Given the description of an element on the screen output the (x, y) to click on. 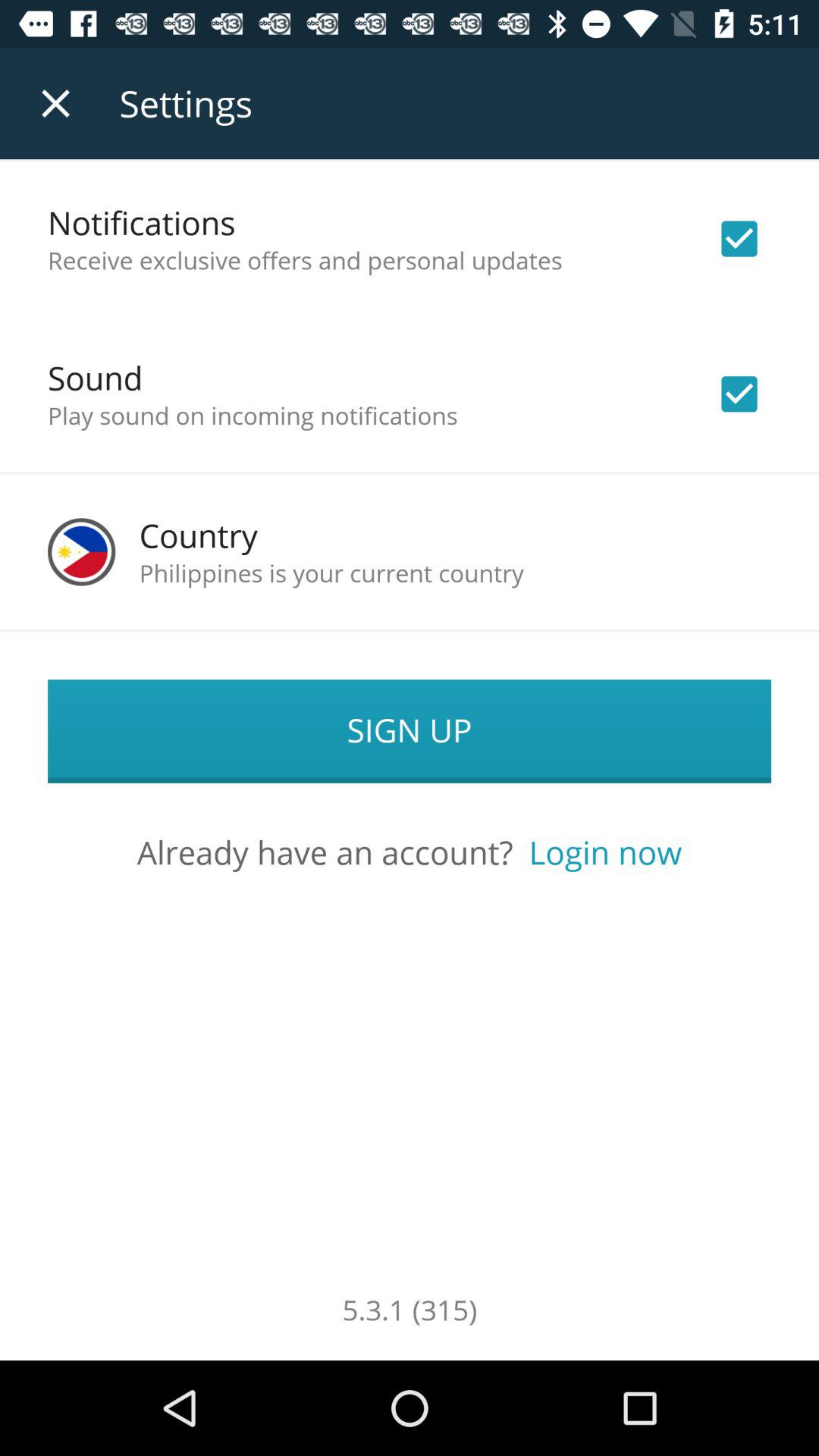
shows write button (739, 238)
